Given the description of an element on the screen output the (x, y) to click on. 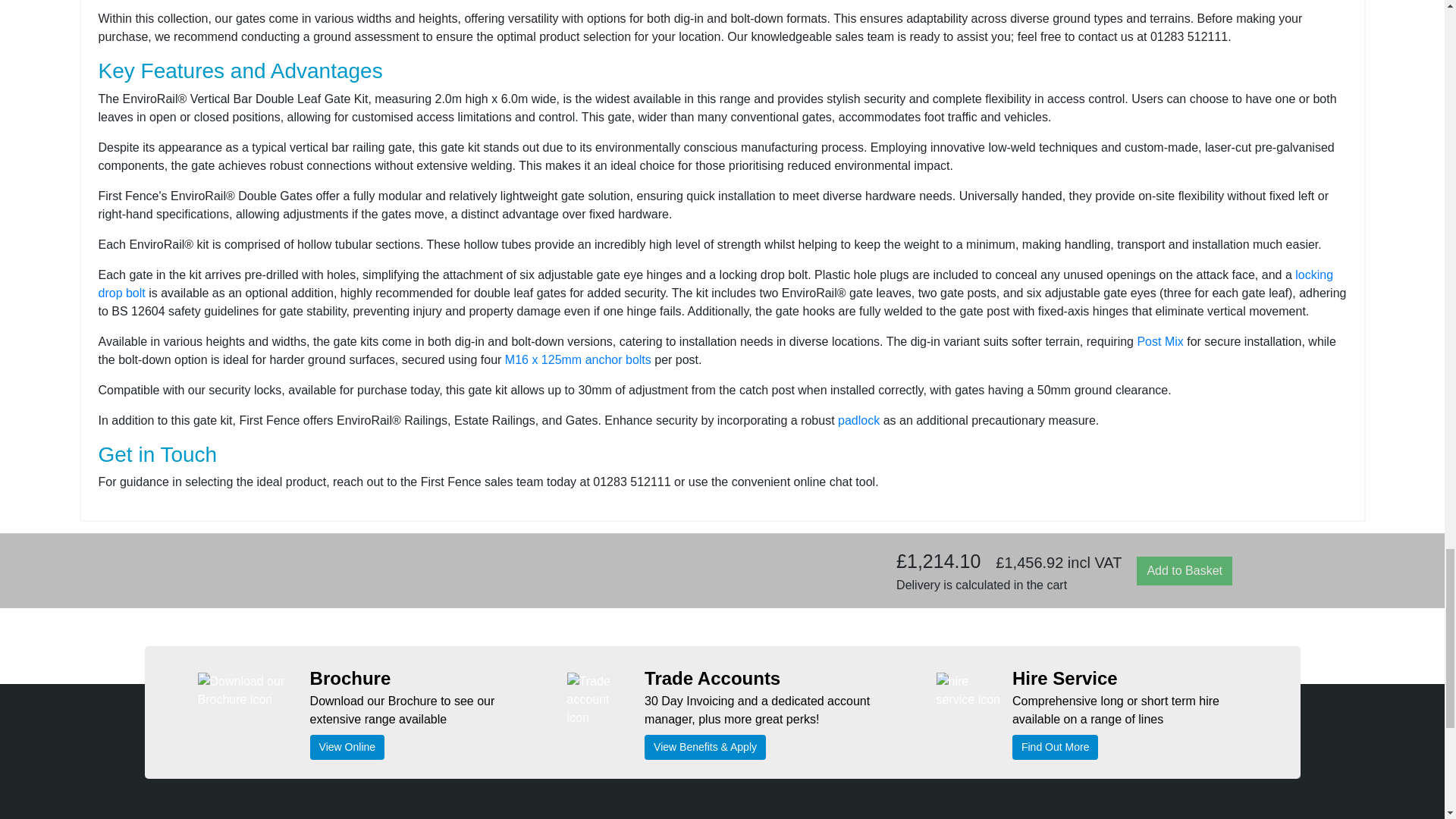
M16 x 125mm anchor bolts (577, 359)
Post Mix (1158, 341)
Find Out More (1054, 747)
locking drop bolt (716, 283)
View Online (347, 747)
padlock (858, 420)
